Given the description of an element on the screen output the (x, y) to click on. 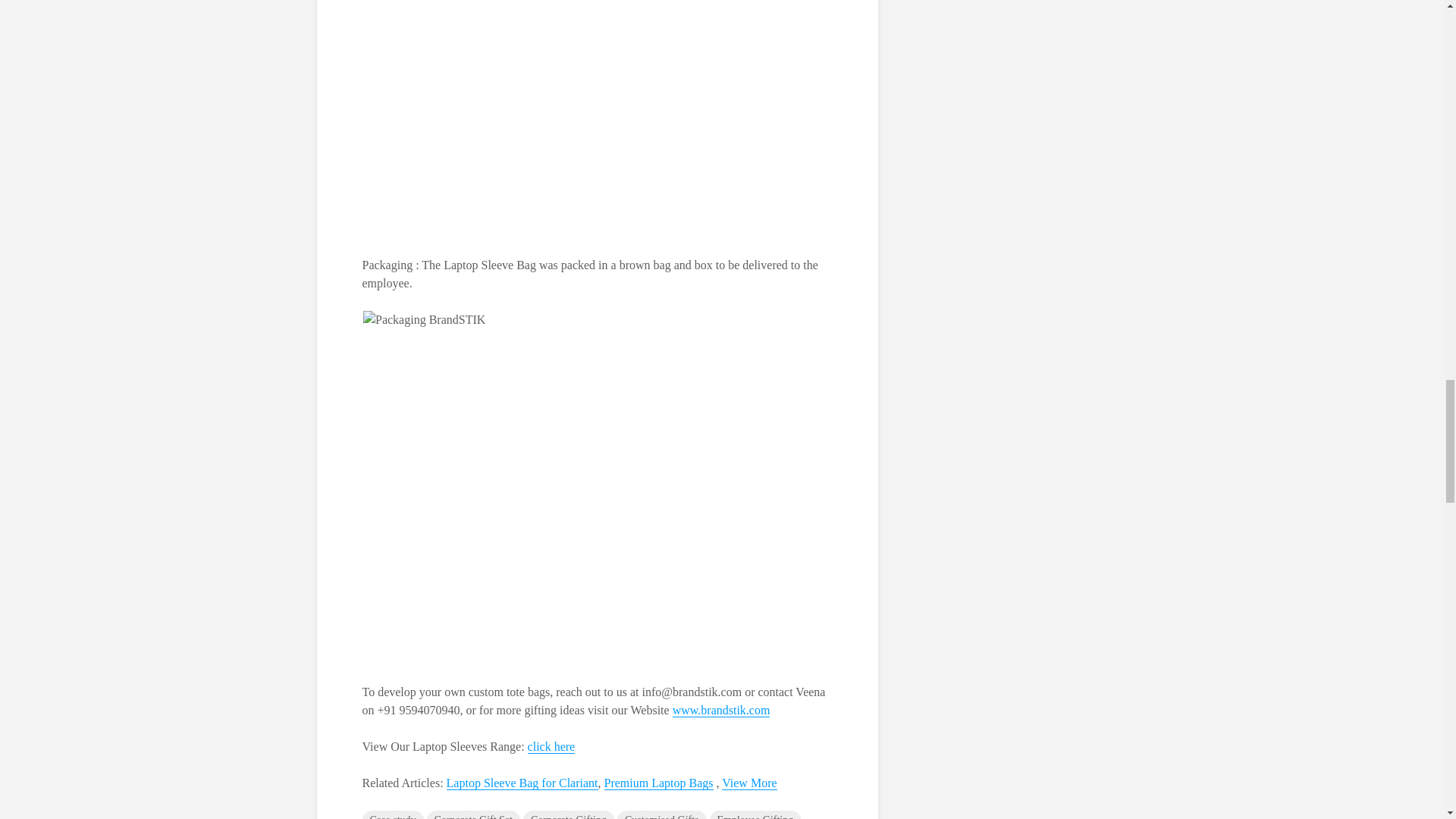
Case study (392, 814)
Customised Gifts (661, 814)
Premium Laptop Bags (658, 783)
Corporate Gift Set (472, 814)
Laptop Sleeve Bag for Clariant (522, 783)
Corporate Gifting (568, 814)
click here (551, 746)
www.brandstik.com (721, 710)
View More (749, 783)
